Given the description of an element on the screen output the (x, y) to click on. 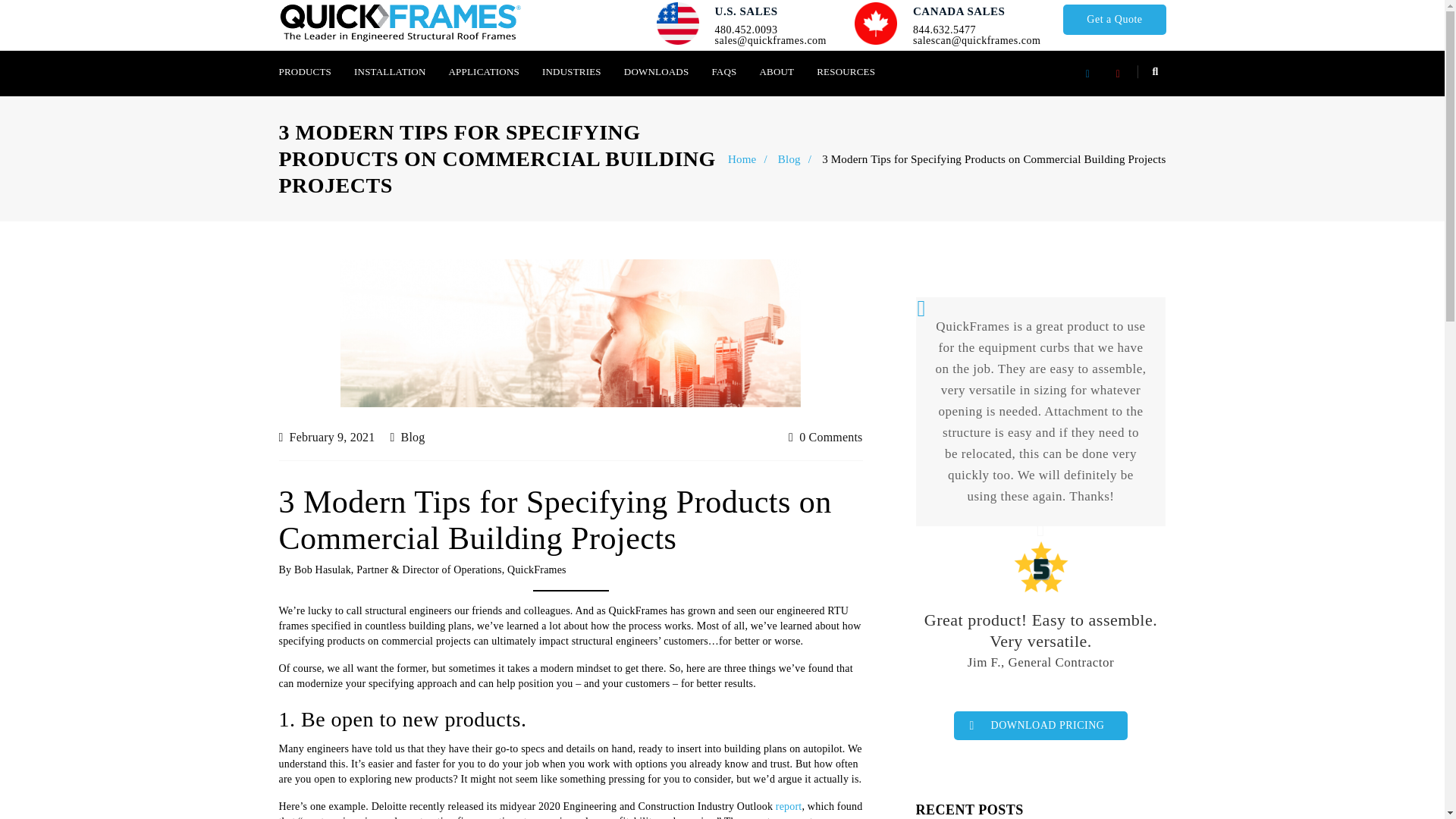
QuickFrames (400, 24)
480.452.0093 (745, 30)
QuickFrames (400, 23)
